Given the description of an element on the screen output the (x, y) to click on. 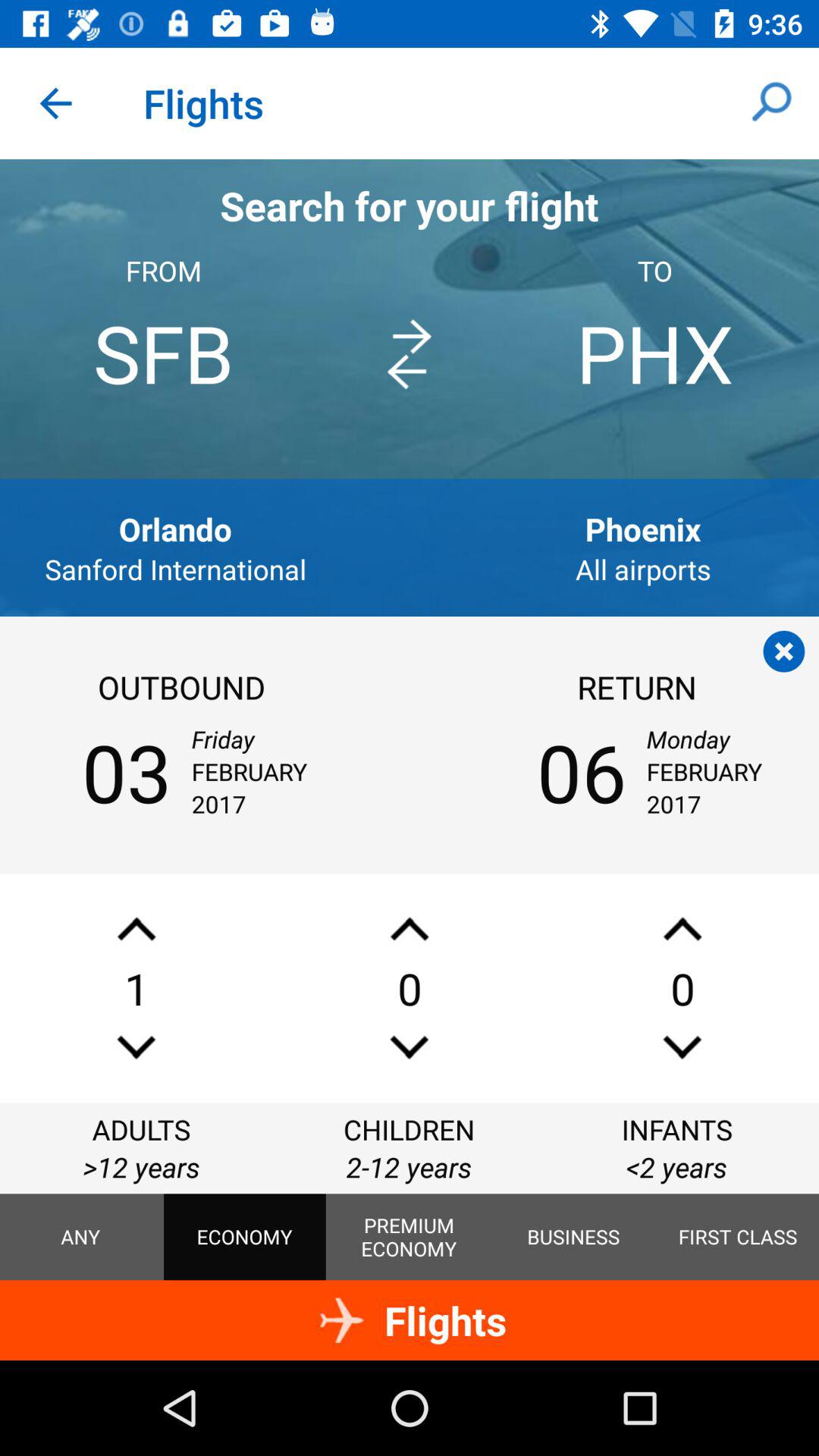
lower number of adults (136, 1047)
